Given the description of an element on the screen output the (x, y) to click on. 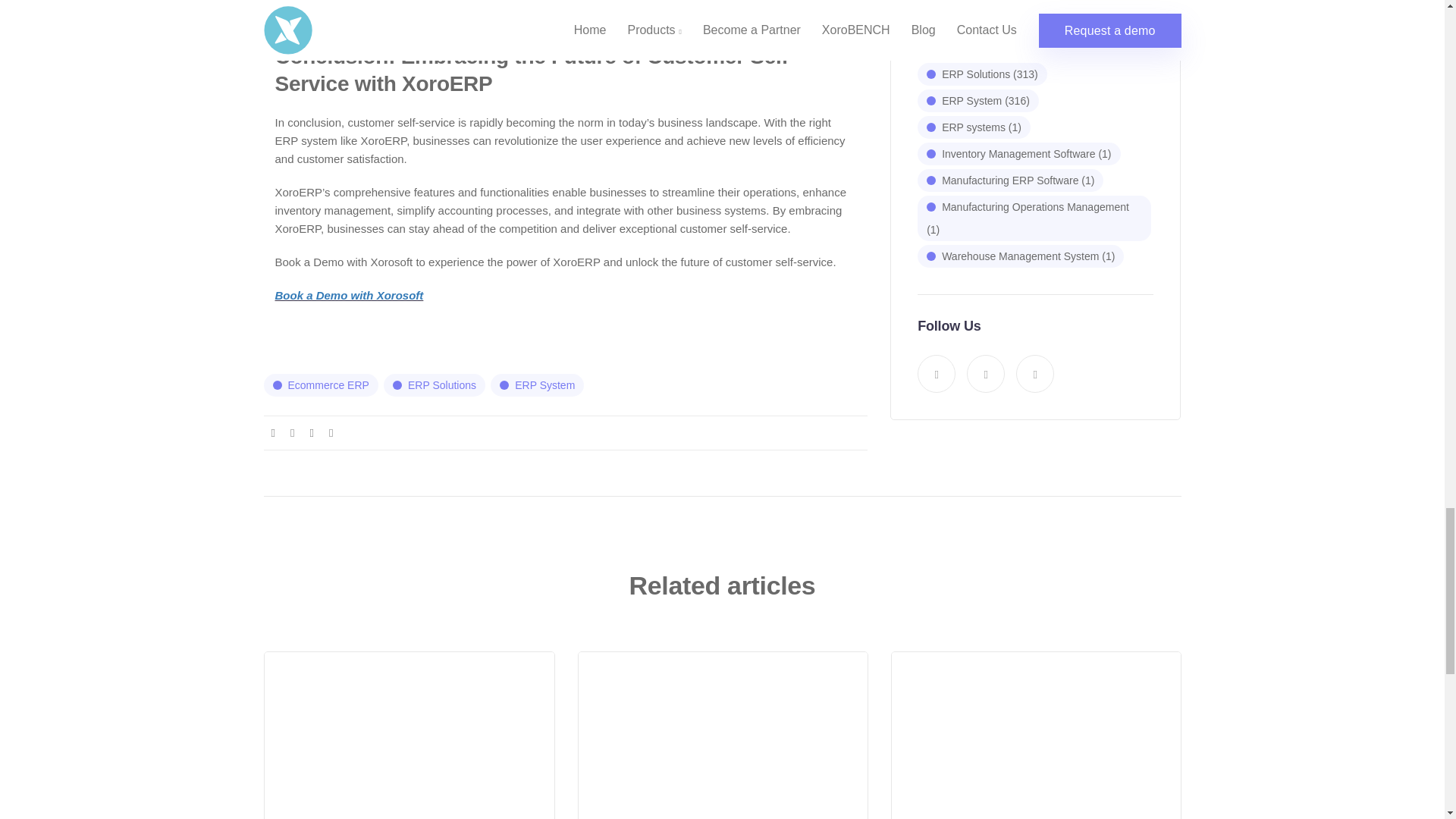
Ecommerce ERP (320, 384)
ERP System (536, 384)
Book a Demo with Xorosoft (349, 295)
ERP Solutions (434, 384)
